Given the description of an element on the screen output the (x, y) to click on. 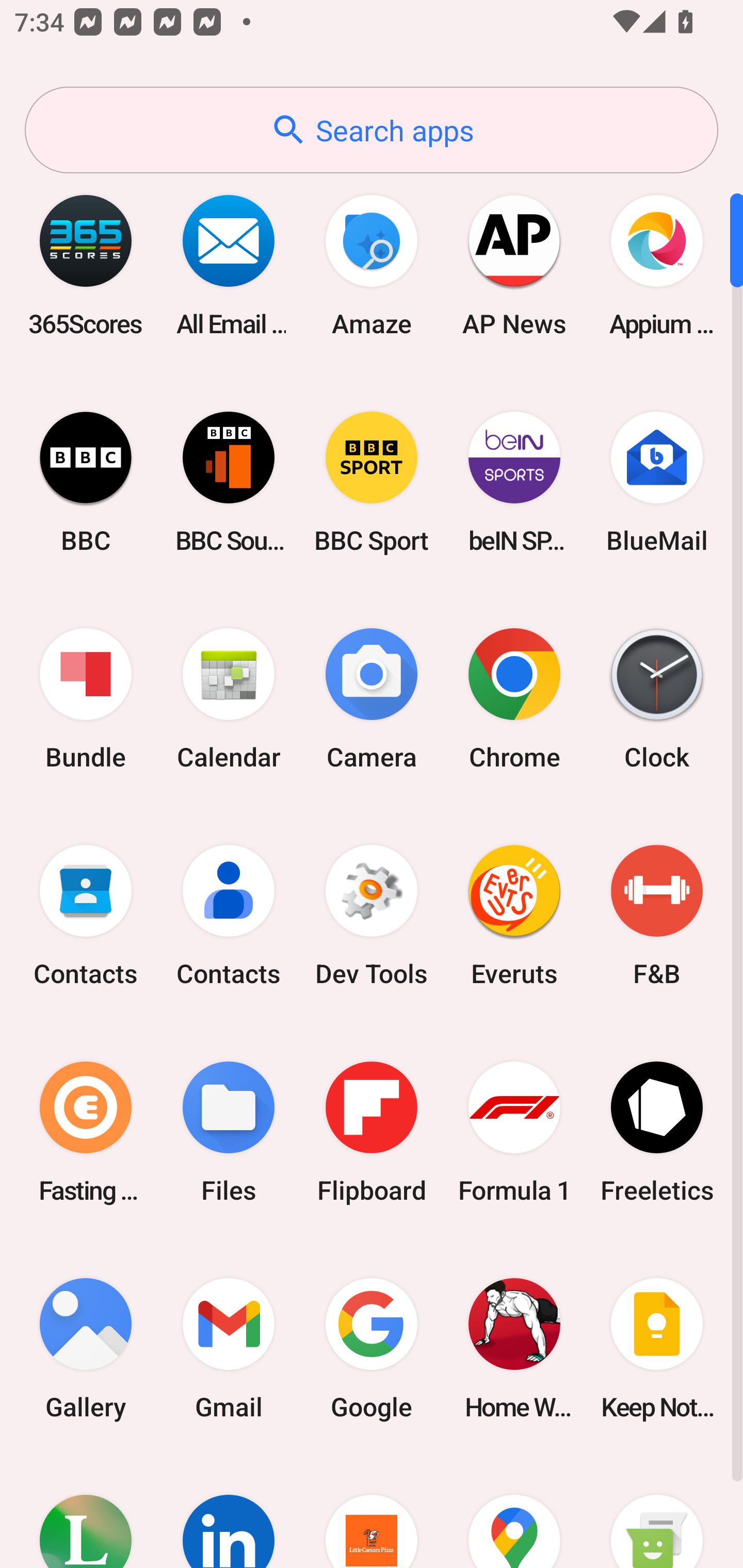
  Search apps (371, 130)
365Scores (85, 264)
All Email Connect (228, 264)
Amaze (371, 264)
AP News (514, 264)
Appium Settings (656, 264)
BBC (85, 482)
BBC Sounds (228, 482)
BBC Sport (371, 482)
beIN SPORTS (514, 482)
BlueMail (656, 482)
Bundle (85, 699)
Calendar (228, 699)
Camera (371, 699)
Chrome (514, 699)
Clock (656, 699)
Contacts (85, 915)
Contacts (228, 915)
Dev Tools (371, 915)
Everuts (514, 915)
F&B (656, 915)
Fasting Coach (85, 1131)
Files (228, 1131)
Flipboard (371, 1131)
Formula 1 (514, 1131)
Freeletics (656, 1131)
Gallery (85, 1348)
Gmail (228, 1348)
Google (371, 1348)
Home Workout (514, 1348)
Keep Notes (656, 1348)
Lifesum (85, 1512)
LinkedIn (228, 1512)
Little Caesars Pizza (371, 1512)
Maps (514, 1512)
Messaging (656, 1512)
